Given the description of an element on the screen output the (x, y) to click on. 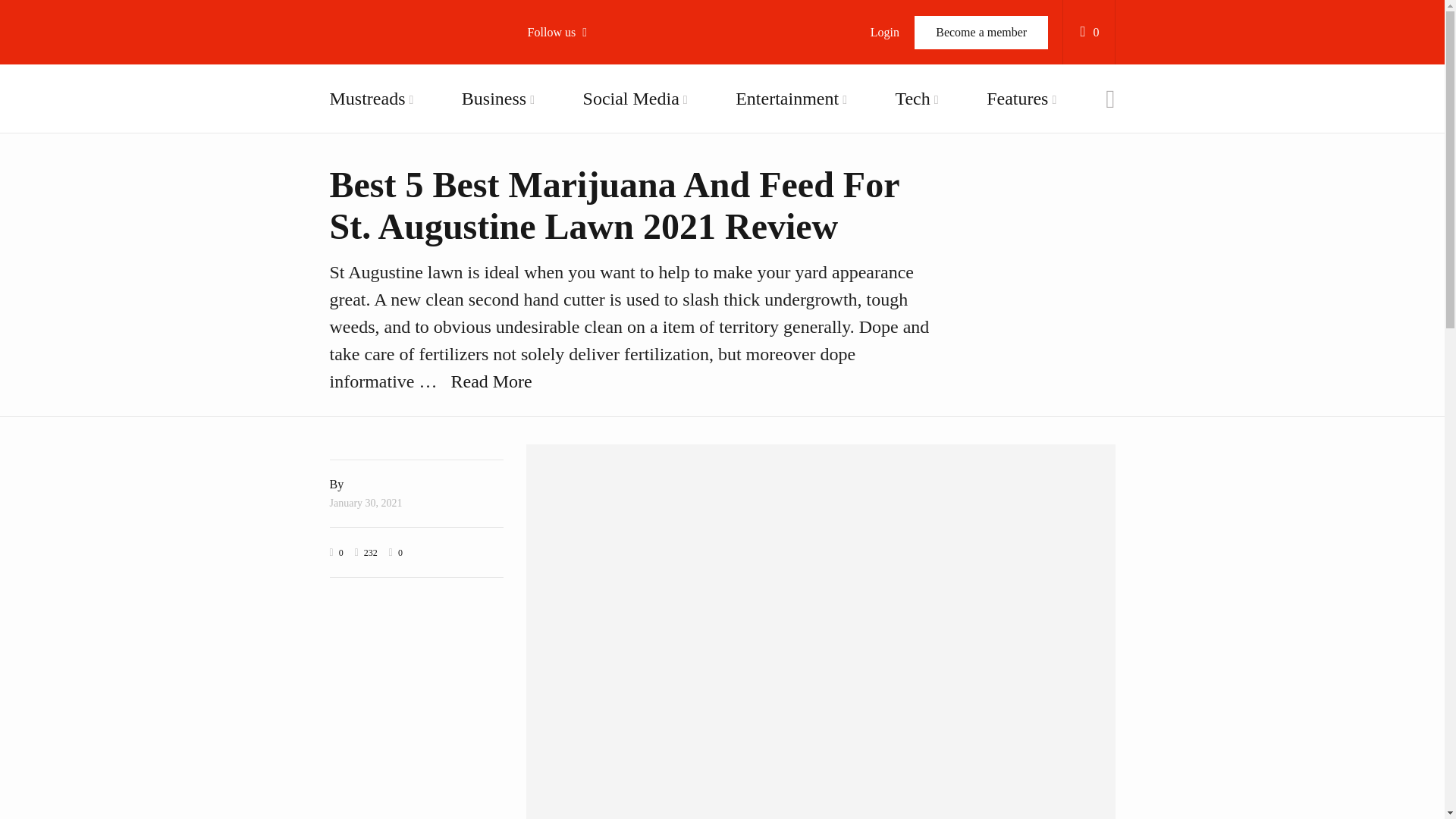
Follow us (564, 32)
Become a member (981, 31)
Follow us on Vimeo (614, 199)
Follow us on YouTube (614, 160)
Follow us on Twitter (614, 121)
Follow us on Linkedin (614, 276)
Follow us on Facebook (614, 83)
Follow us on Pinterest (614, 238)
Follow us on YouTube (614, 160)
Follow us on Linkedin (614, 276)
